Given the description of an element on the screen output the (x, y) to click on. 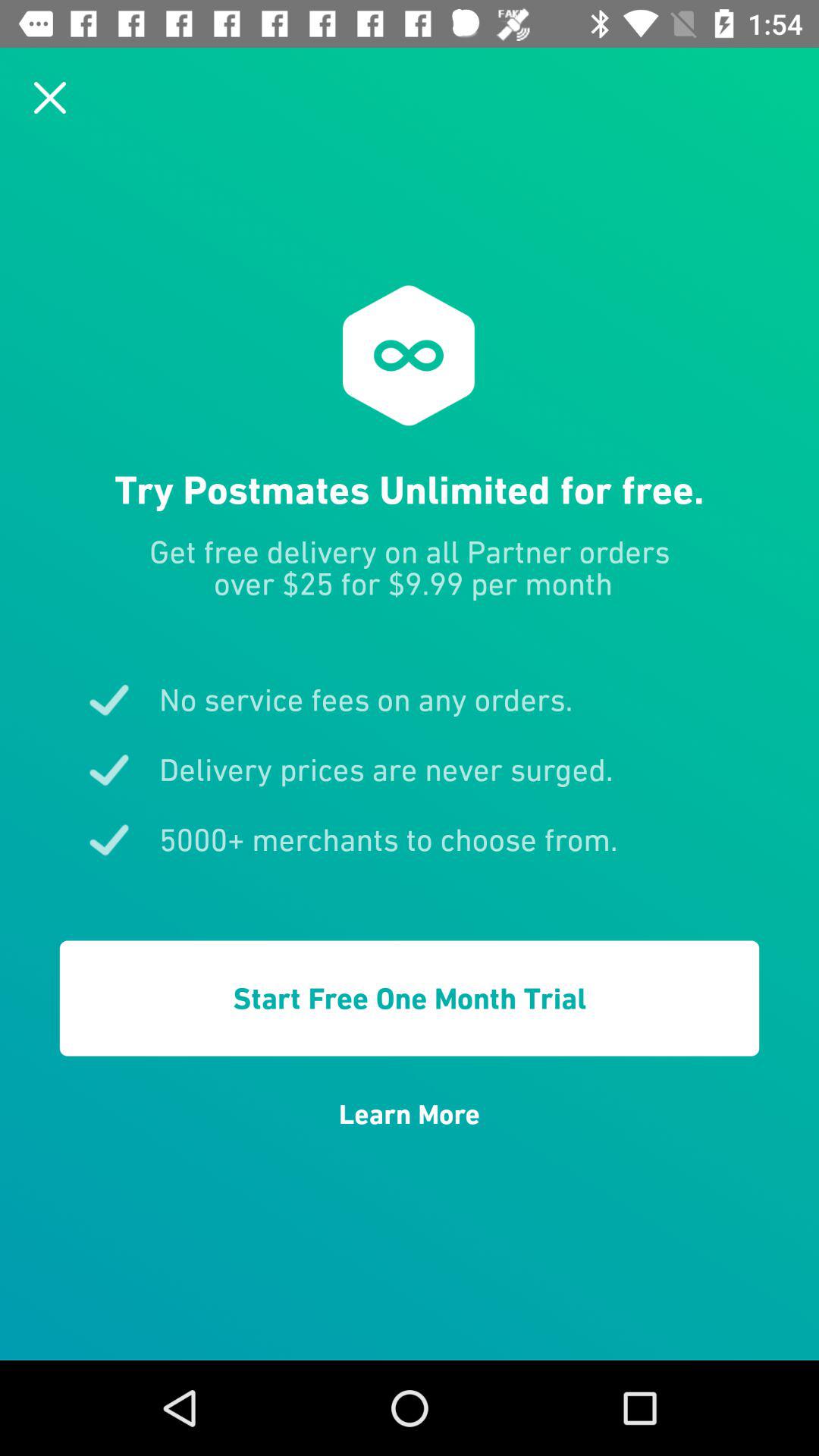
click on start free one month trial (409, 998)
